Given the description of an element on the screen output the (x, y) to click on. 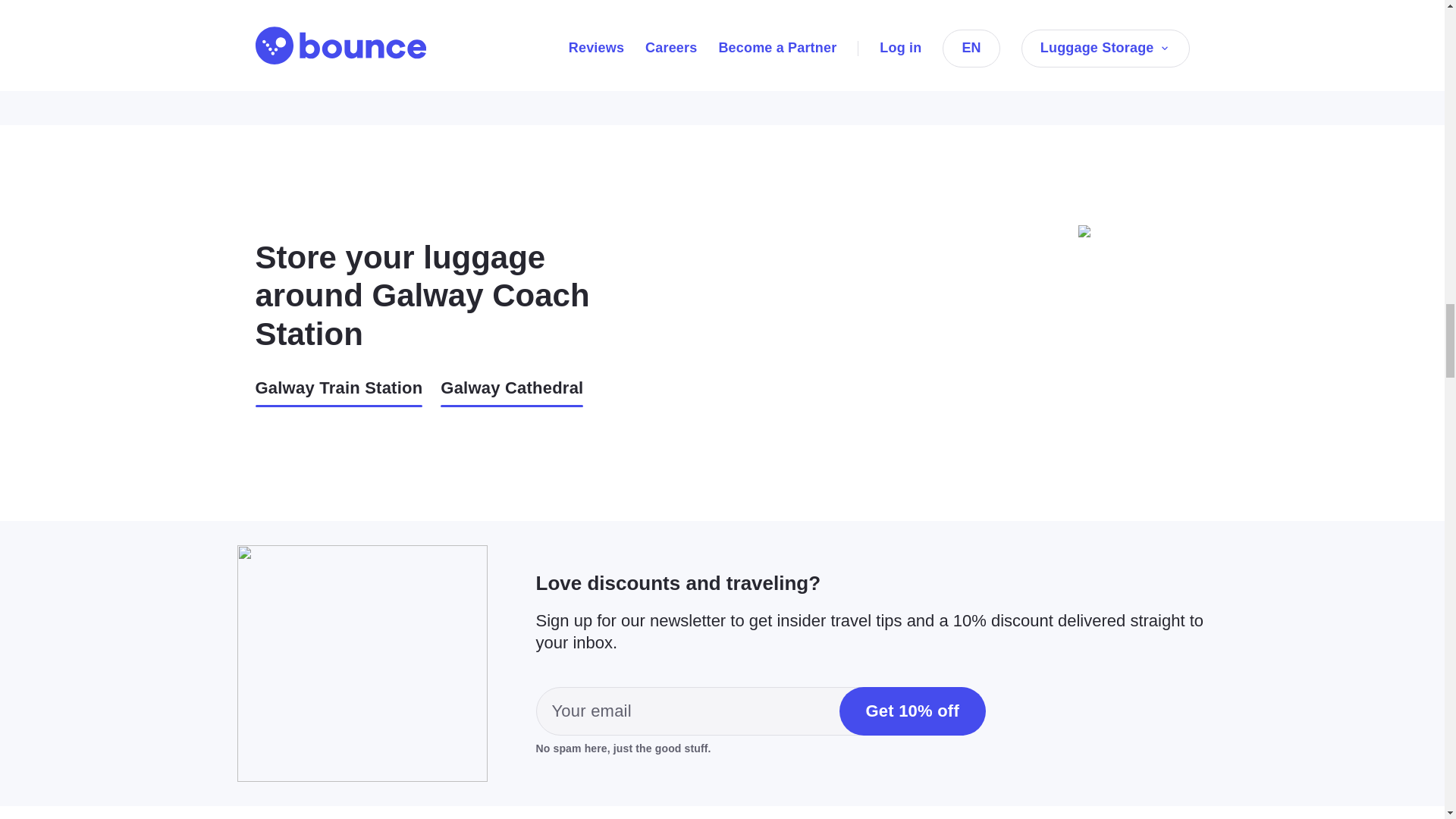
Galway Train Station (338, 392)
Find closest locations (632, 26)
Galway Cathedral (512, 392)
